Given the description of an element on the screen output the (x, y) to click on. 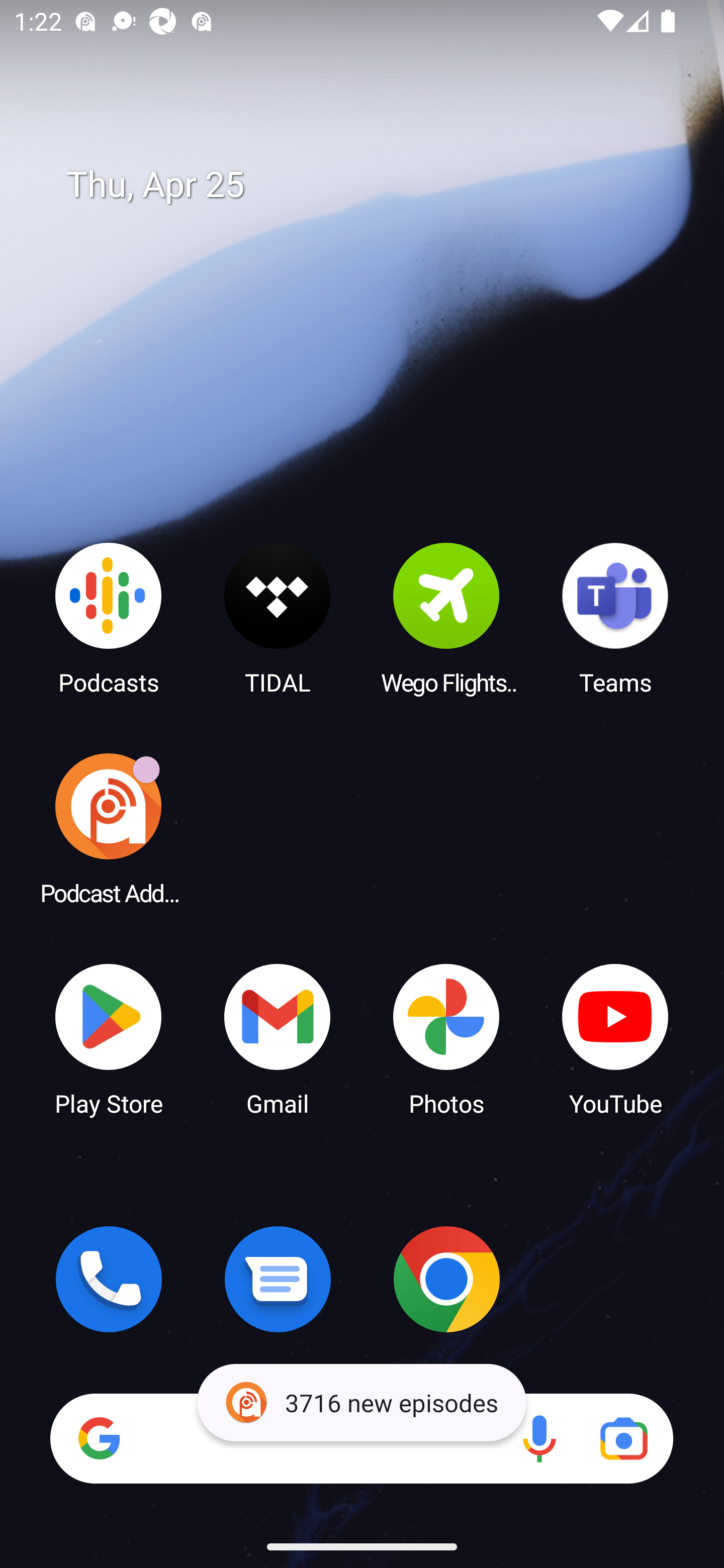
Thu, Apr 25 (375, 184)
Podcasts (108, 617)
TIDAL (277, 617)
Wego Flights & Hotels (445, 617)
Teams (615, 617)
Play Store (108, 1038)
Gmail (277, 1038)
Photos (445, 1038)
YouTube (615, 1038)
Phone (108, 1279)
Messages (277, 1279)
Chrome (446, 1279)
Search Voice search Google Lens (361, 1438)
Voice search (539, 1438)
Google Lens (623, 1438)
